Given the description of an element on the screen output the (x, y) to click on. 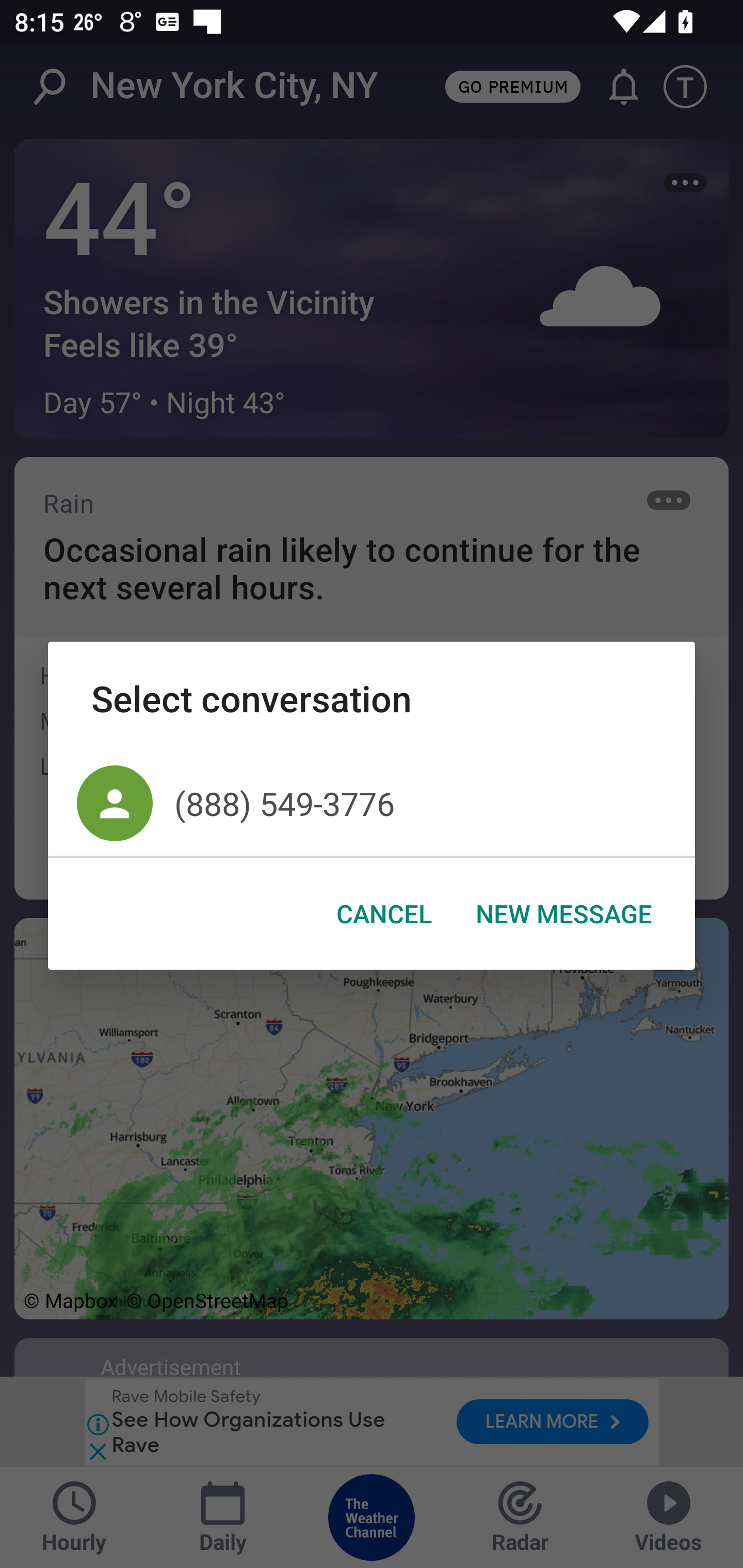
CANCEL (384, 913)
NEW MESSAGE (563, 913)
